Given the description of an element on the screen output the (x, y) to click on. 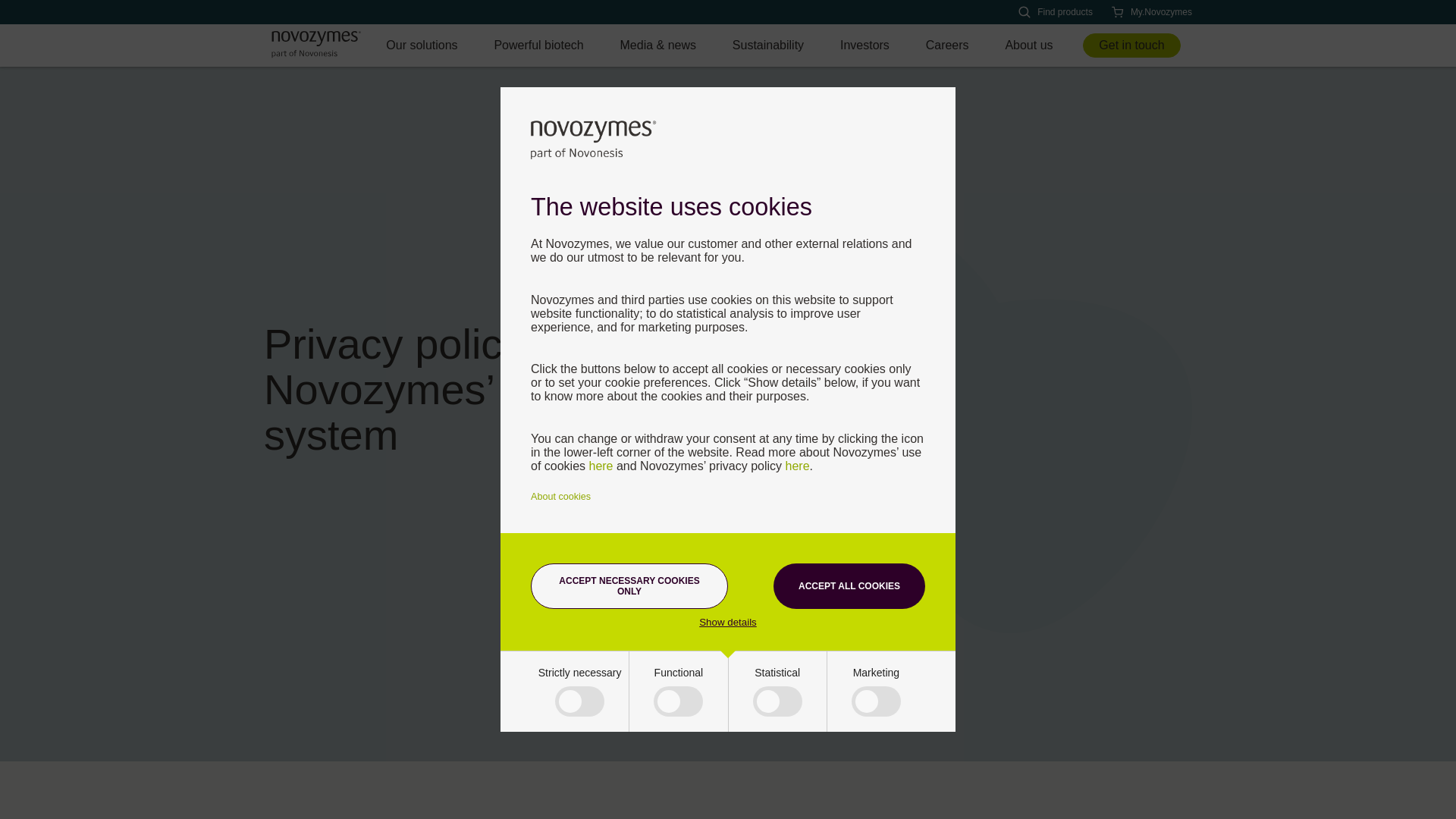
ACCEPT NECESSARY COOKIES ONLY (629, 586)
Show details (727, 622)
here (600, 465)
ACCEPT ALL COOKIES (848, 586)
here (797, 465)
About cookies (561, 496)
